Given the description of an element on the screen output the (x, y) to click on. 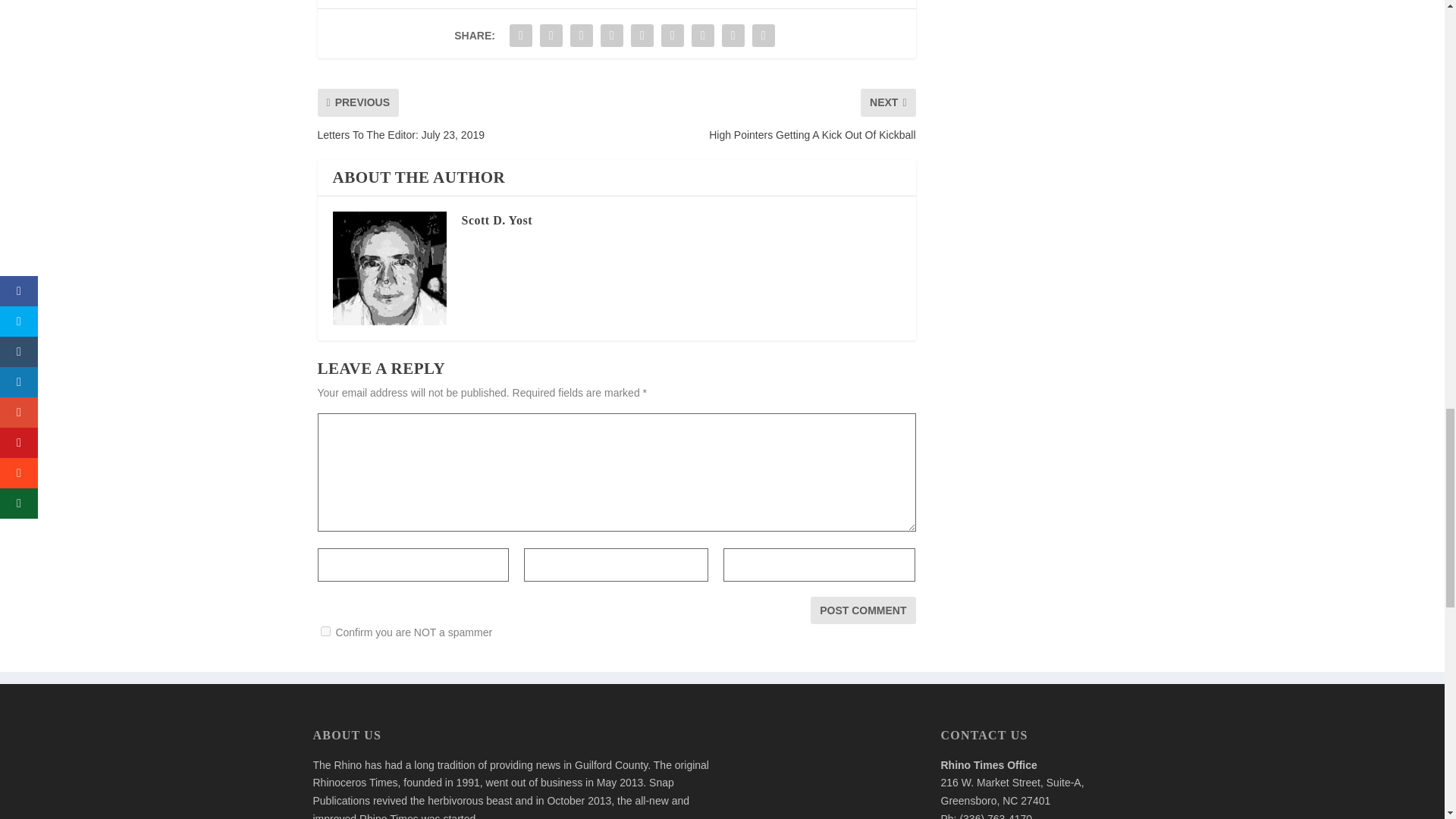
Share "Horsing Around For A Good Cause" via Buffer (702, 35)
Share "Horsing Around For A Good Cause" via LinkedIn (672, 35)
View all posts by Scott D. Yost (496, 219)
Share "Horsing Around For A Good Cause" via Facebook (520, 35)
on (325, 631)
Share "Horsing Around For A Good Cause" via Twitter (550, 35)
Post Comment (862, 610)
Share "Horsing Around For A Good Cause" via Email (732, 35)
Share "Horsing Around For A Good Cause" via Print (763, 35)
Share "Horsing Around For A Good Cause" via Tumblr (611, 35)
Share "Horsing Around For A Good Cause" via Pinterest (642, 35)
